Given the description of an element on the screen output the (x, y) to click on. 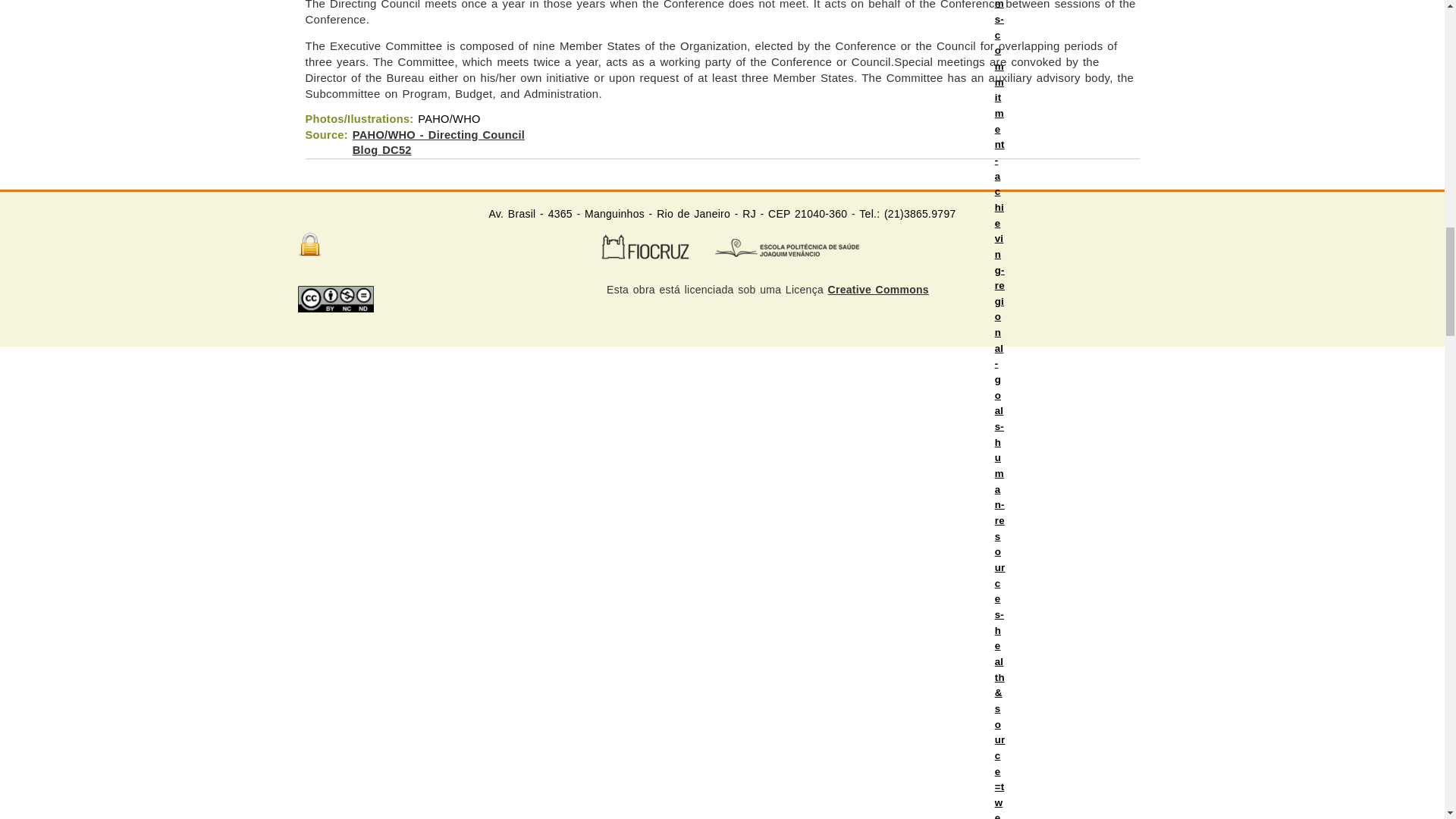
Blog DC52 (382, 150)
